Given the description of an element on the screen output the (x, y) to click on. 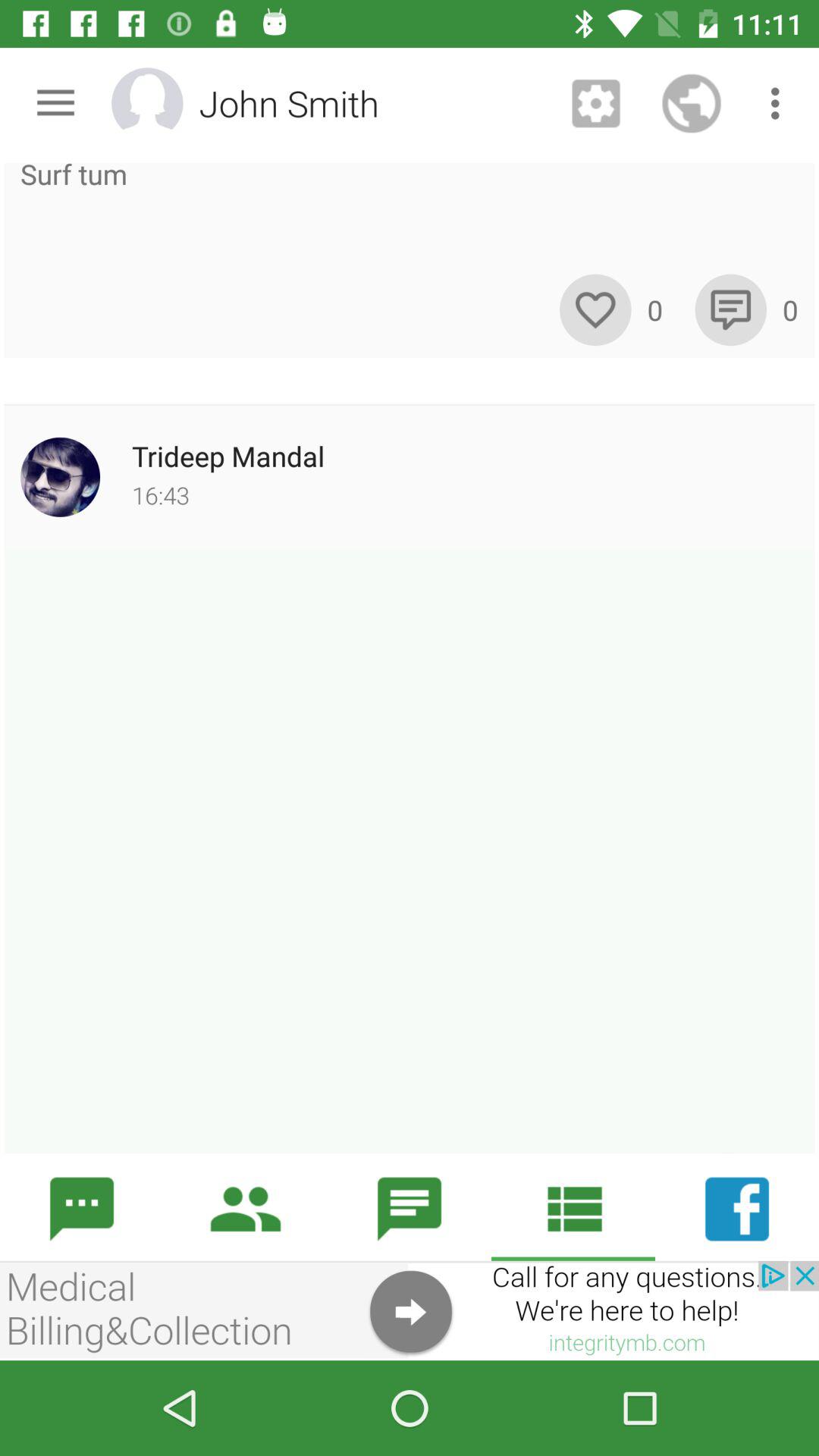
click advertisement (409, 1310)
